Given the description of an element on the screen output the (x, y) to click on. 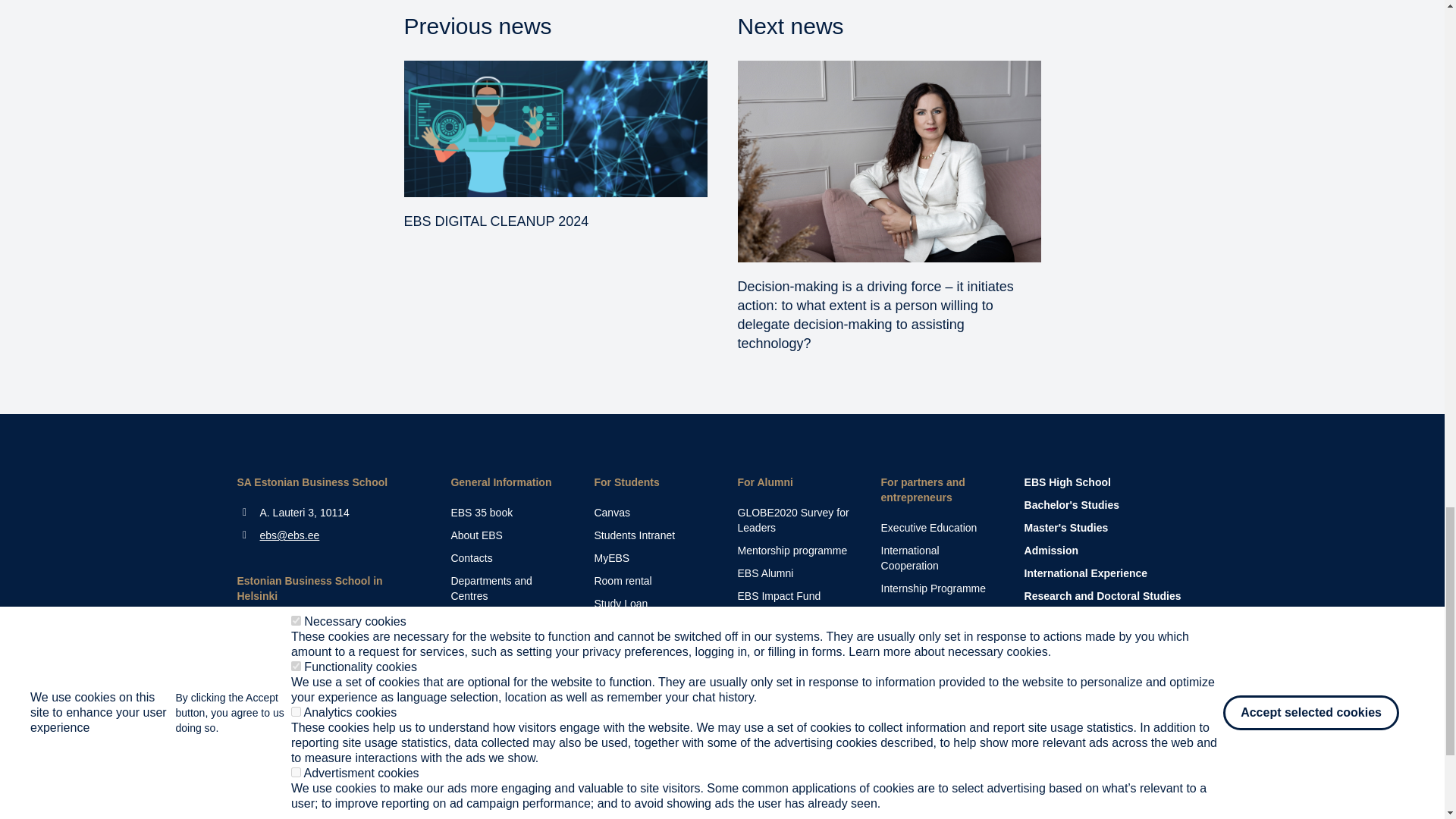
See more (506, 588)
See more (506, 663)
